Given the description of an element on the screen output the (x, y) to click on. 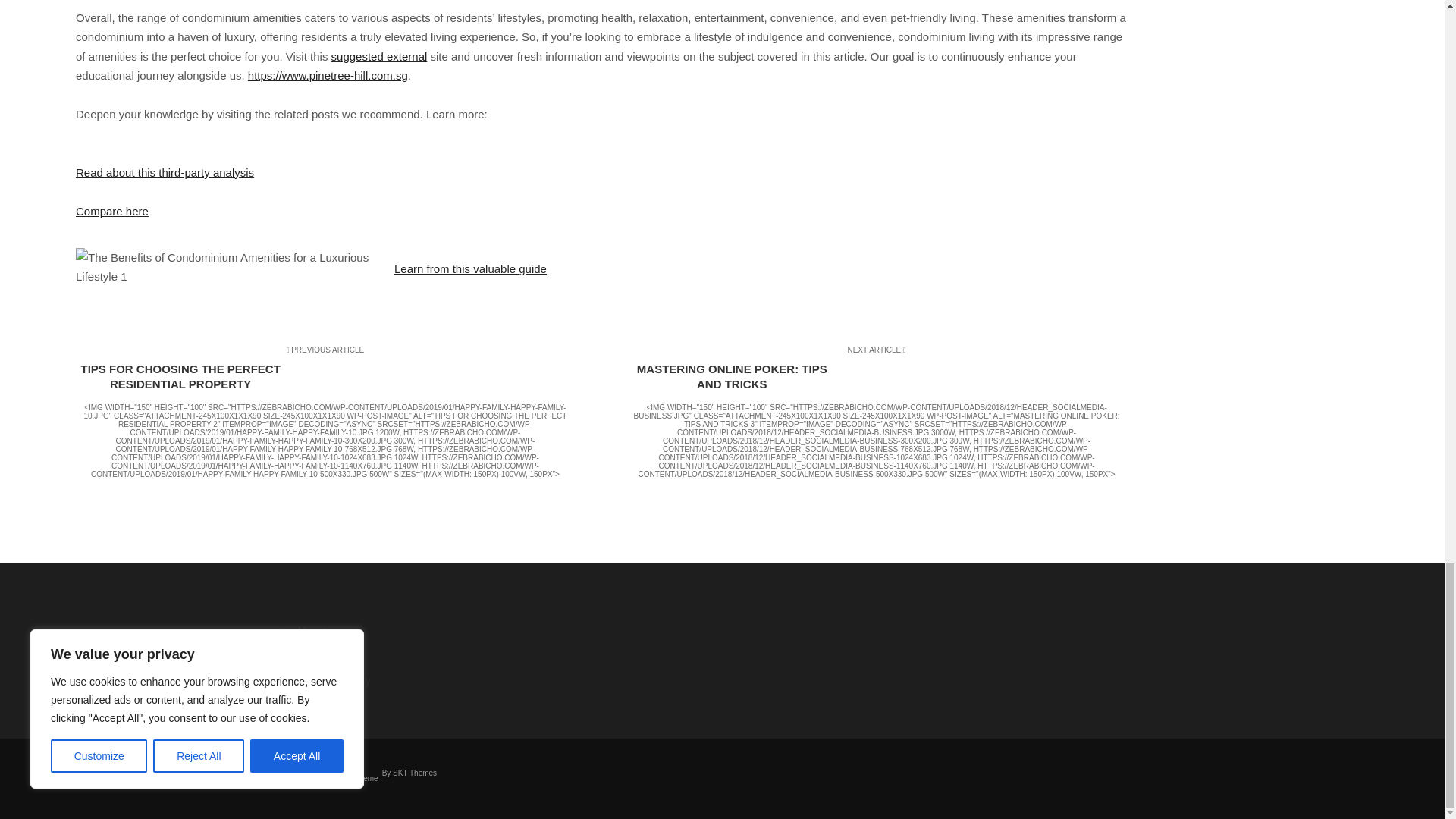
Compare here (111, 210)
Read about this third-party analysis (164, 172)
Learn from this valuable guide (470, 268)
suggested external (379, 56)
